Given the description of an element on the screen output the (x, y) to click on. 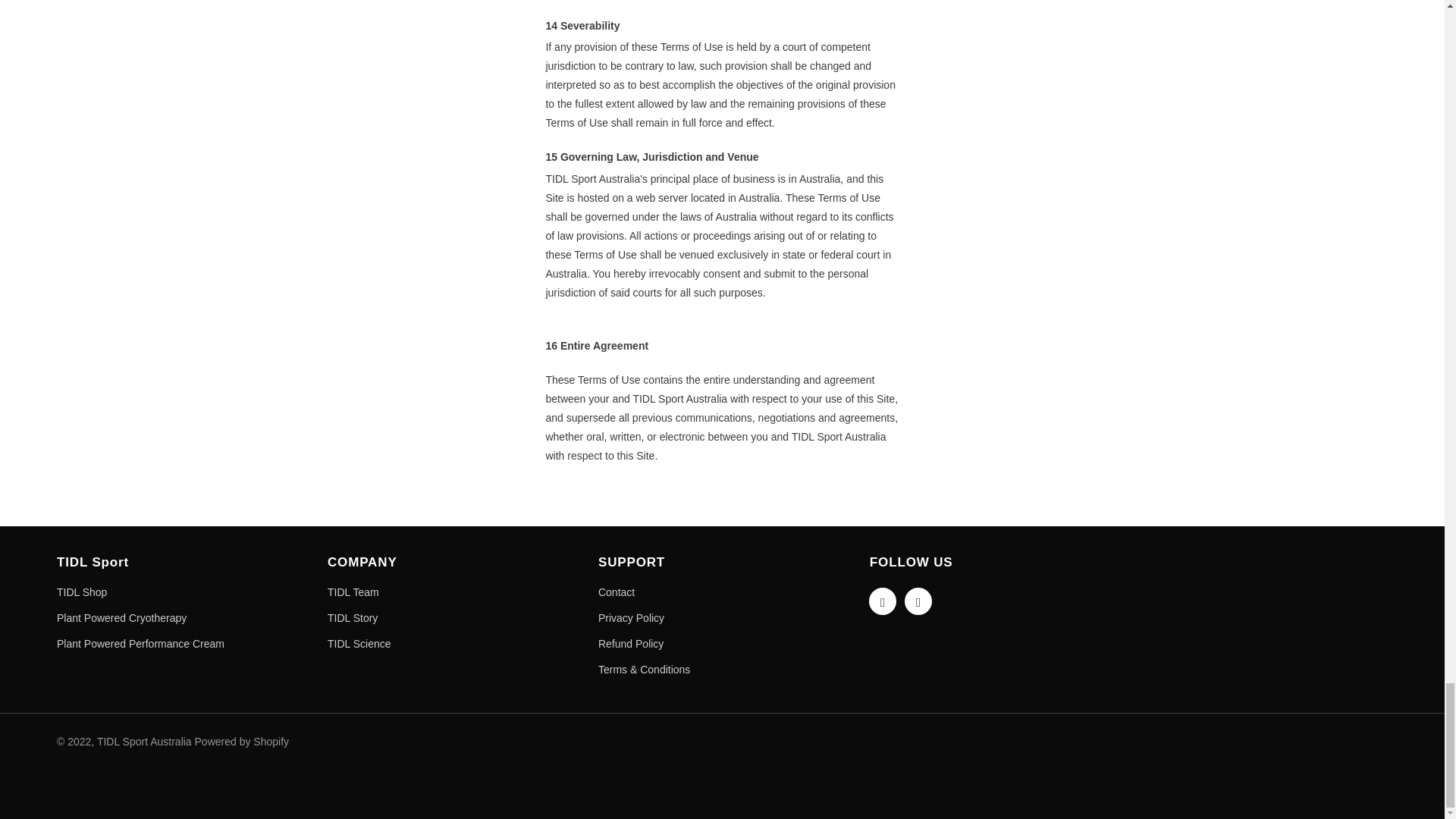
Contact (616, 591)
TIDL Story (352, 617)
TIDL Shop (81, 591)
Refund Policy (630, 643)
TIDL Science (359, 643)
TIDL Team (352, 591)
Plant Powered Cryotherapy  (121, 617)
Privacy Policy (630, 617)
Plant Powered Performance Cream (140, 643)
TIDL Science (359, 643)
Plant Powered Performance Cream (140, 643)
Plant Powered Cryotherapy (121, 617)
TIDL Story (352, 617)
TIDL Shop (81, 591)
TIDL Team (352, 591)
